Given the description of an element on the screen output the (x, y) to click on. 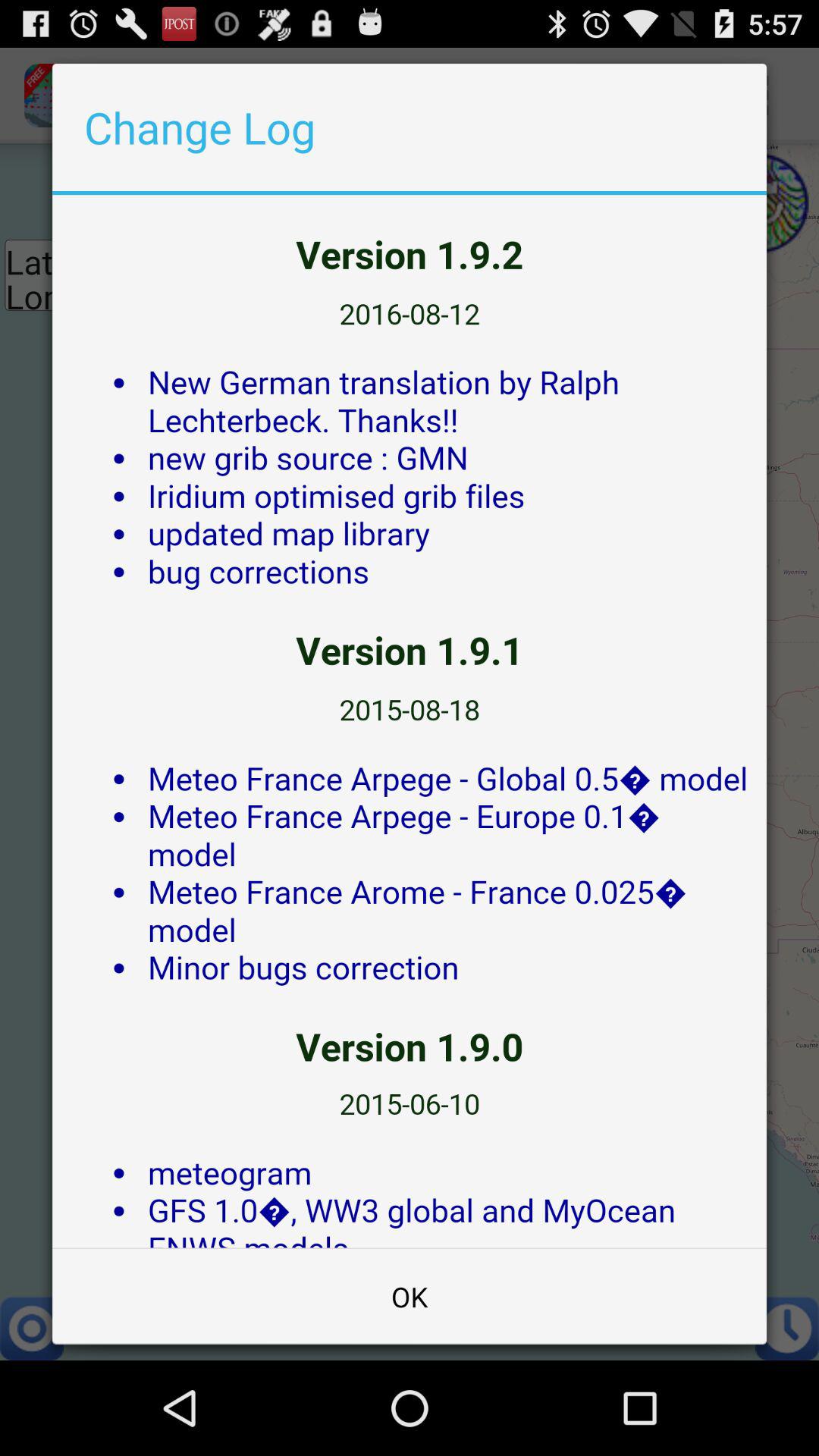
adventisment page (409, 721)
